Given the description of an element on the screen output the (x, y) to click on. 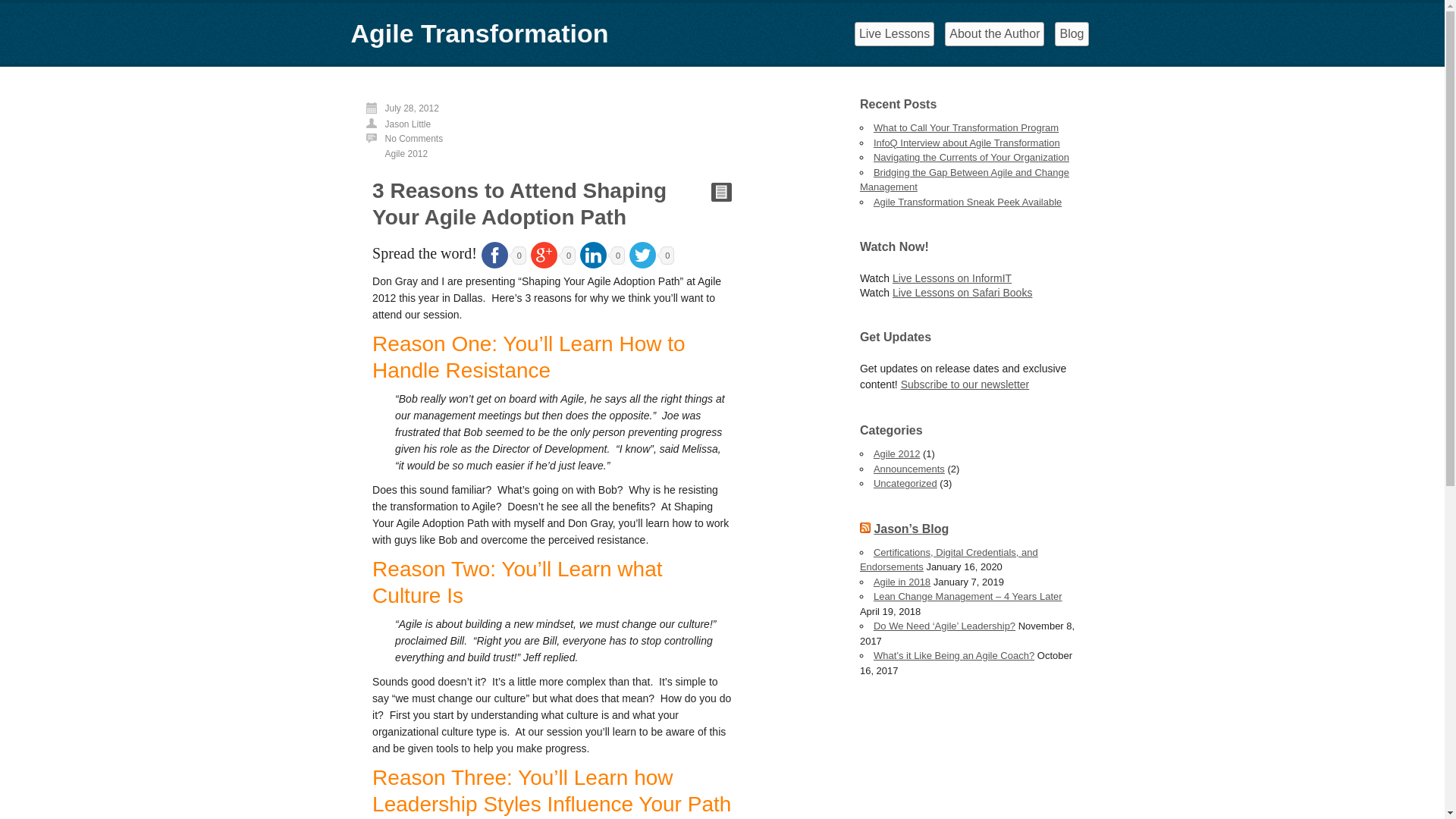
Bridging the Gap Between Agile and Change Management Element type: text (964, 179)
Facebook Element type: hover (494, 255)
3 Reasons to Attend Shaping Your Agile Adoption Path Element type: text (519, 203)
Agile Transformation Sneak Peek Available Element type: text (967, 201)
Announcements Element type: text (908, 467)
InfoQ Interview about Agile Transformation Element type: text (966, 141)
No Comments Element type: text (414, 138)
What to Call Your Transformation Program Element type: text (965, 127)
July 28, 2012 Element type: text (412, 108)
Blog Element type: text (1071, 33)
Navigating the Currents of Your Organization Element type: text (971, 157)
Live Lessons on InformIT Element type: text (951, 278)
About the Author Element type: text (994, 33)
Linkedin Element type: hover (593, 255)
Agile 2012 Element type: text (406, 153)
Certifications, Digital Credentials, and Endorsements Element type: text (948, 559)
Agile in 2018 Element type: text (901, 581)
Agile 2012 Element type: text (896, 453)
Live Lessons on Safari Books Element type: text (962, 292)
Twitter Element type: hover (642, 255)
Subscribe to our newsletter Element type: text (964, 384)
Uncategorized Element type: text (905, 483)
Google+ Element type: hover (543, 255)
Live Lessons Element type: text (894, 33)
Agile Transformation Element type: text (479, 32)
Jason Little Element type: text (408, 124)
Spread the word! Element type: text (424, 252)
